Given the description of an element on the screen output the (x, y) to click on. 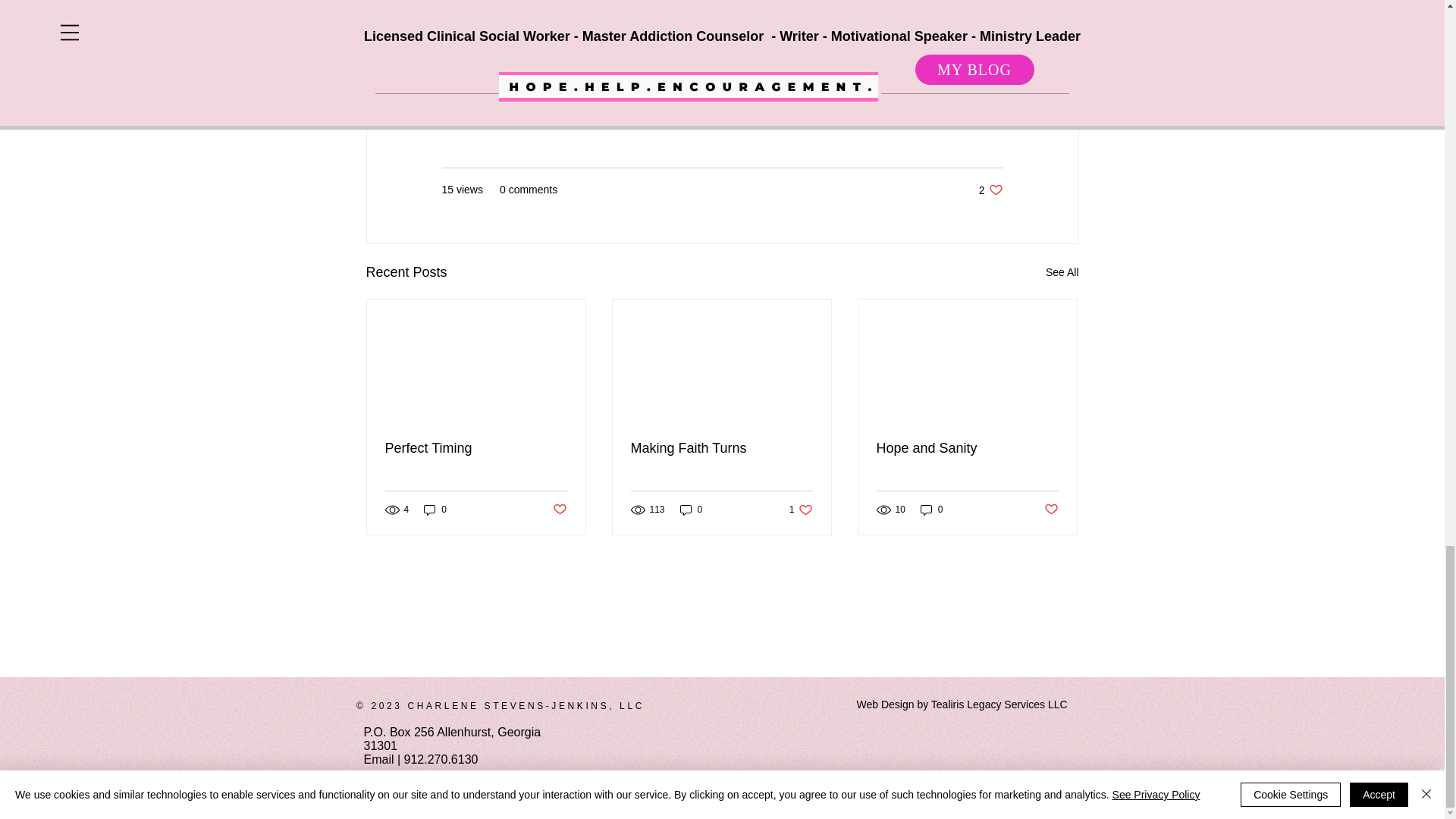
Perfect Timing (476, 448)
0 (435, 509)
See All (1061, 272)
Making Faith Turns (721, 448)
Hope and Sanity (967, 448)
Tealiris Legacy Services LLC (999, 704)
0 (800, 509)
Post not marked as liked (691, 509)
Post not marked as liked (1050, 509)
Email (558, 509)
0 (379, 758)
